Given the description of an element on the screen output the (x, y) to click on. 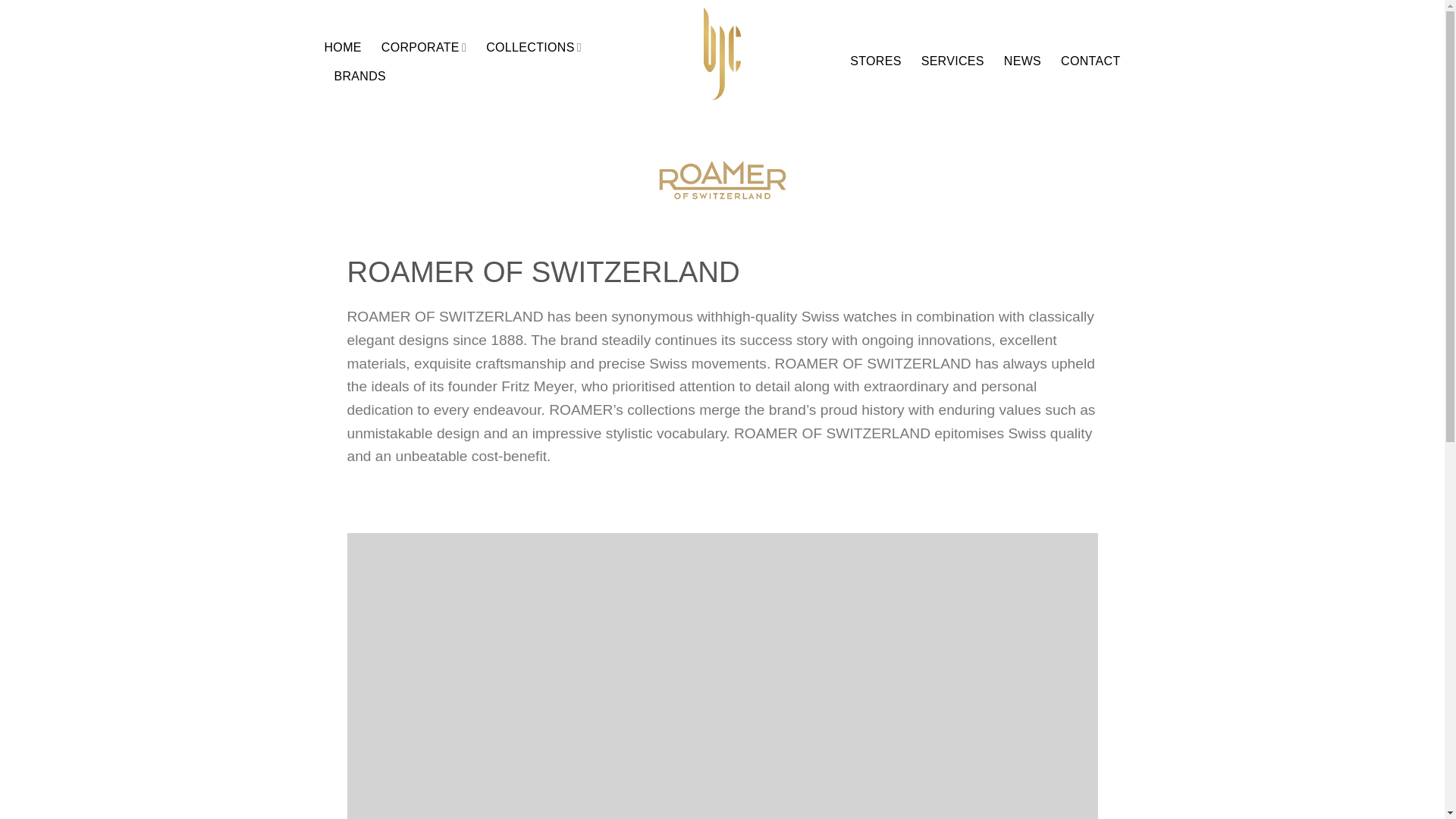
COLLECTIONS (533, 47)
BRANDS (359, 76)
STORES (875, 61)
CORPORATE (423, 47)
CONTACT (1090, 61)
NEWS (1022, 61)
HOME (342, 47)
SERVICES (952, 61)
